Given the description of an element on the screen output the (x, y) to click on. 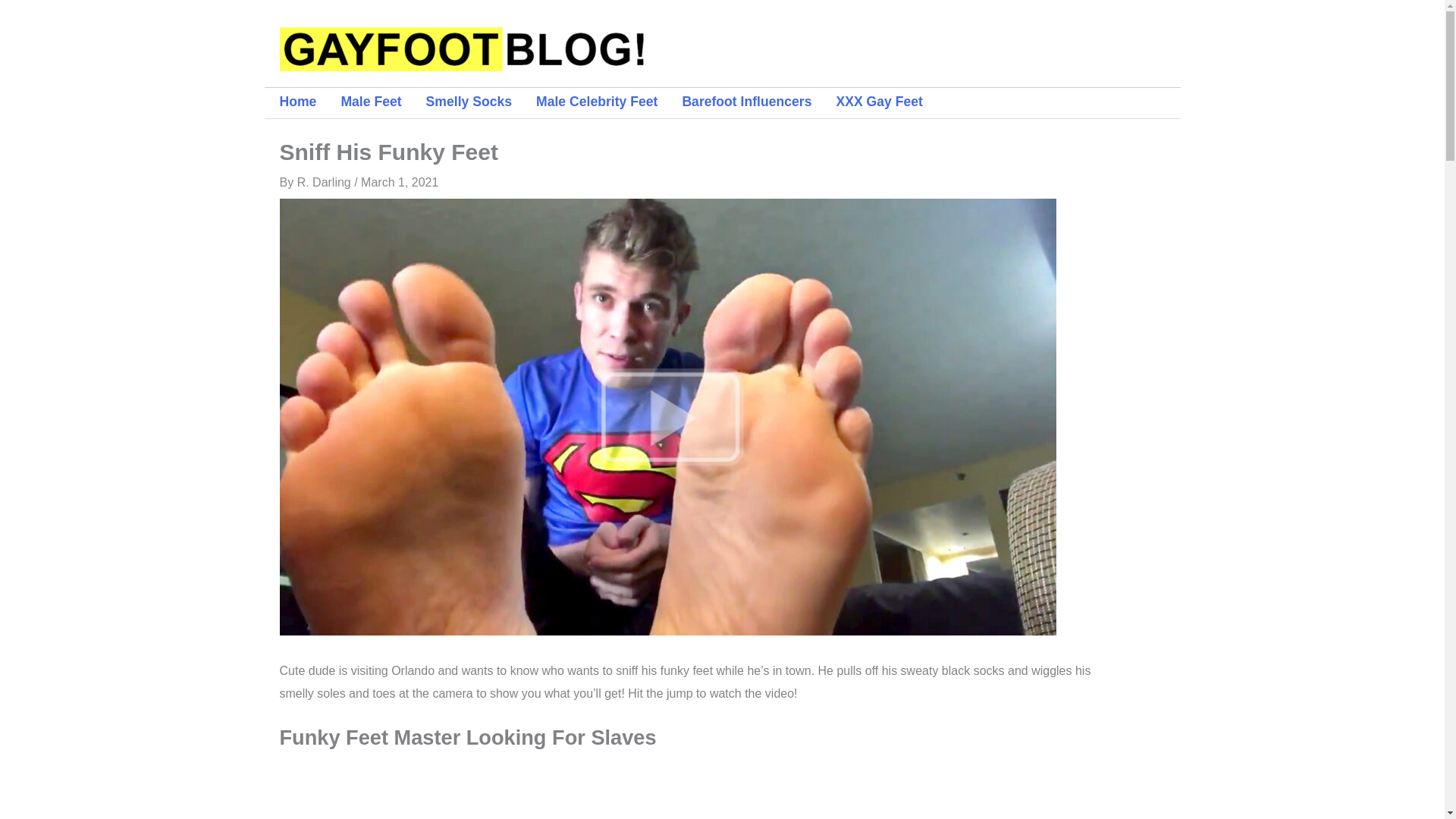
XXX Gay Feet (890, 102)
Male Feet (382, 102)
Male Celebrity Feet (608, 102)
R. Darling (326, 182)
Barefoot Influencers (758, 102)
Smelly Socks (480, 102)
Home (309, 102)
View all posts by R. Darling (326, 182)
